Given the description of an element on the screen output the (x, y) to click on. 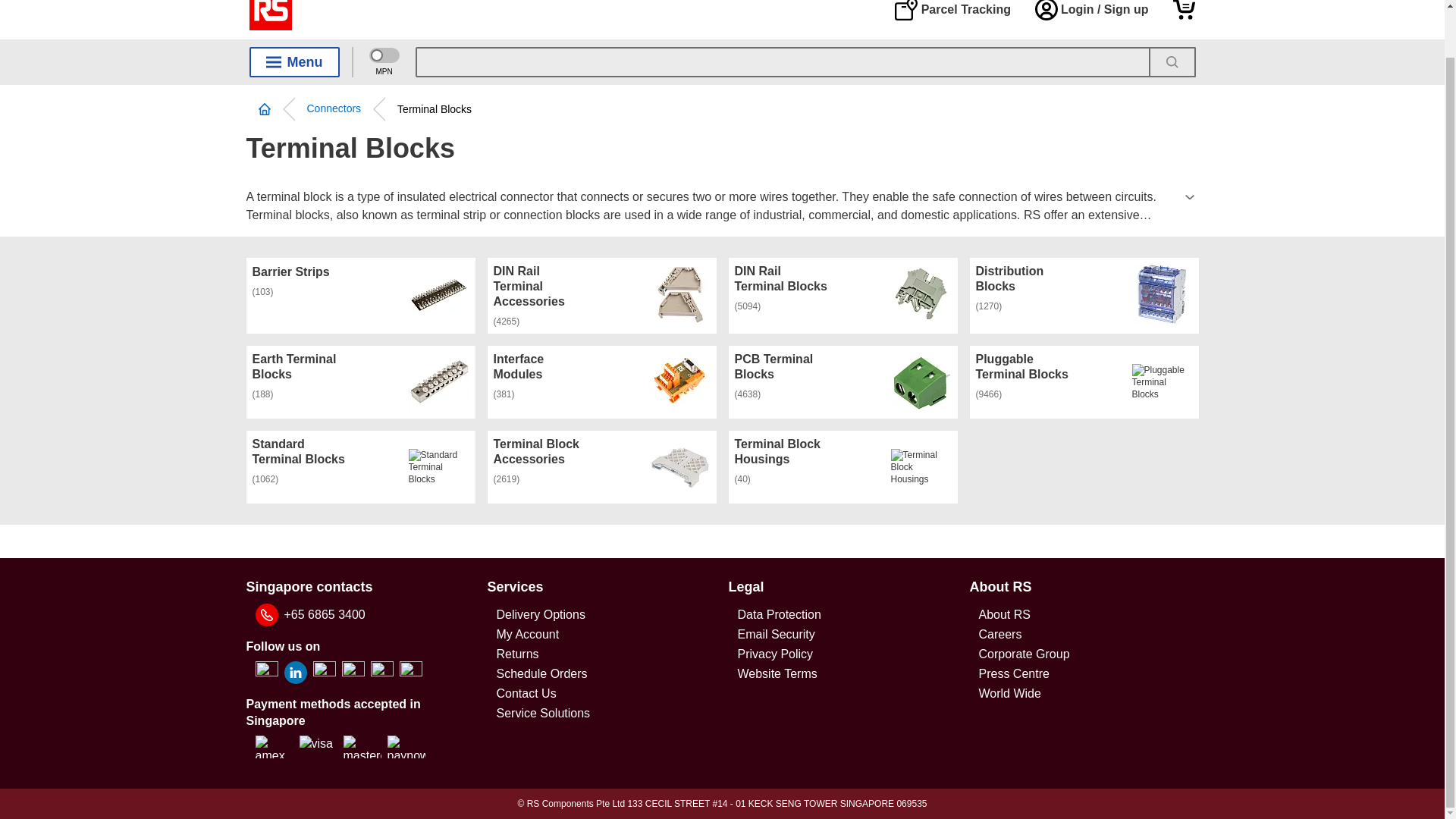
Menu (293, 61)
Parcel Tracking (951, 10)
